Given the description of an element on the screen output the (x, y) to click on. 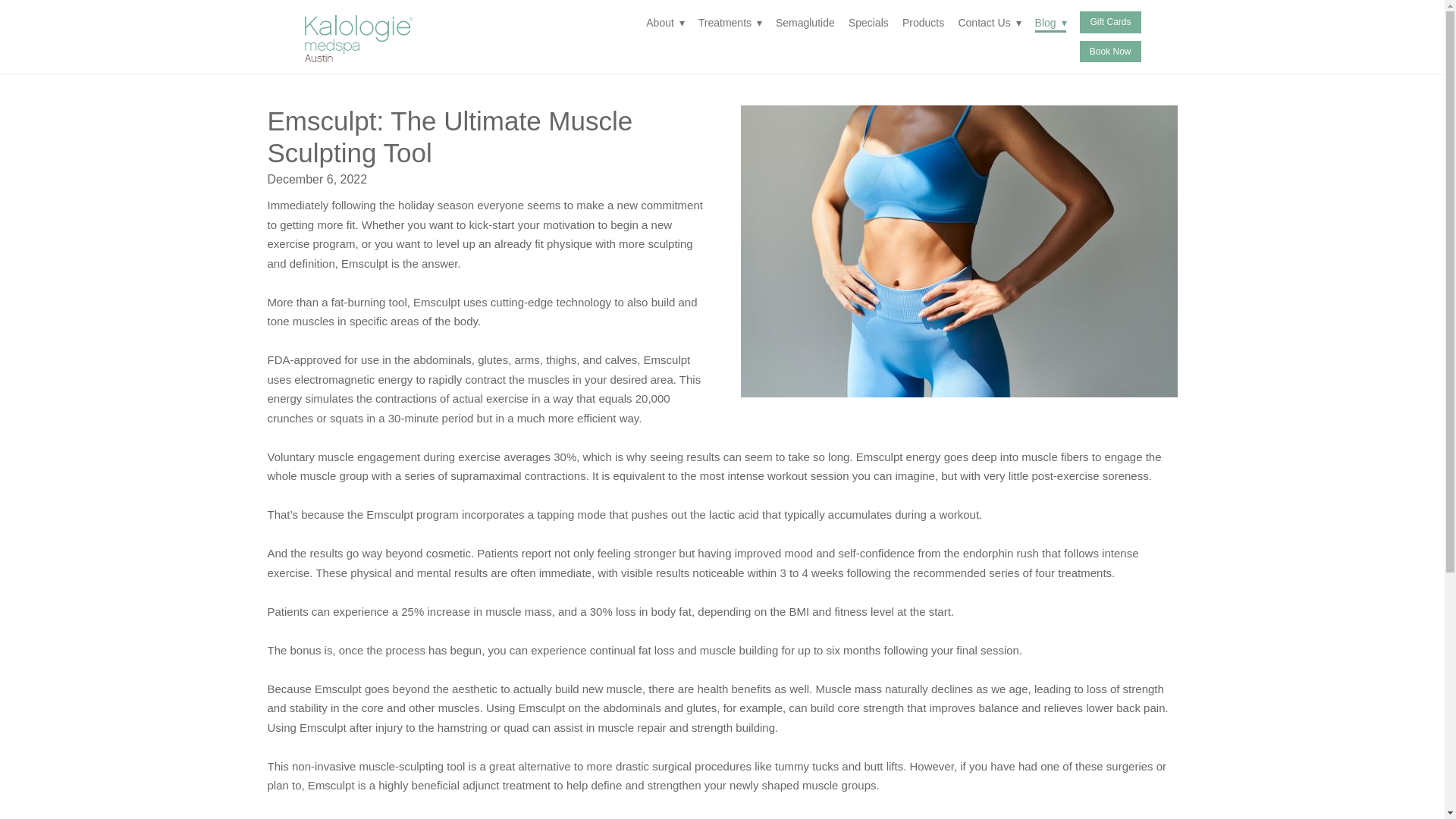
Specials (868, 22)
Products (922, 22)
Semaglutide (805, 22)
Book Now (1110, 51)
Gift Cards (1110, 21)
Kalologie Medspa Austin (375, 40)
